Given the description of an element on the screen output the (x, y) to click on. 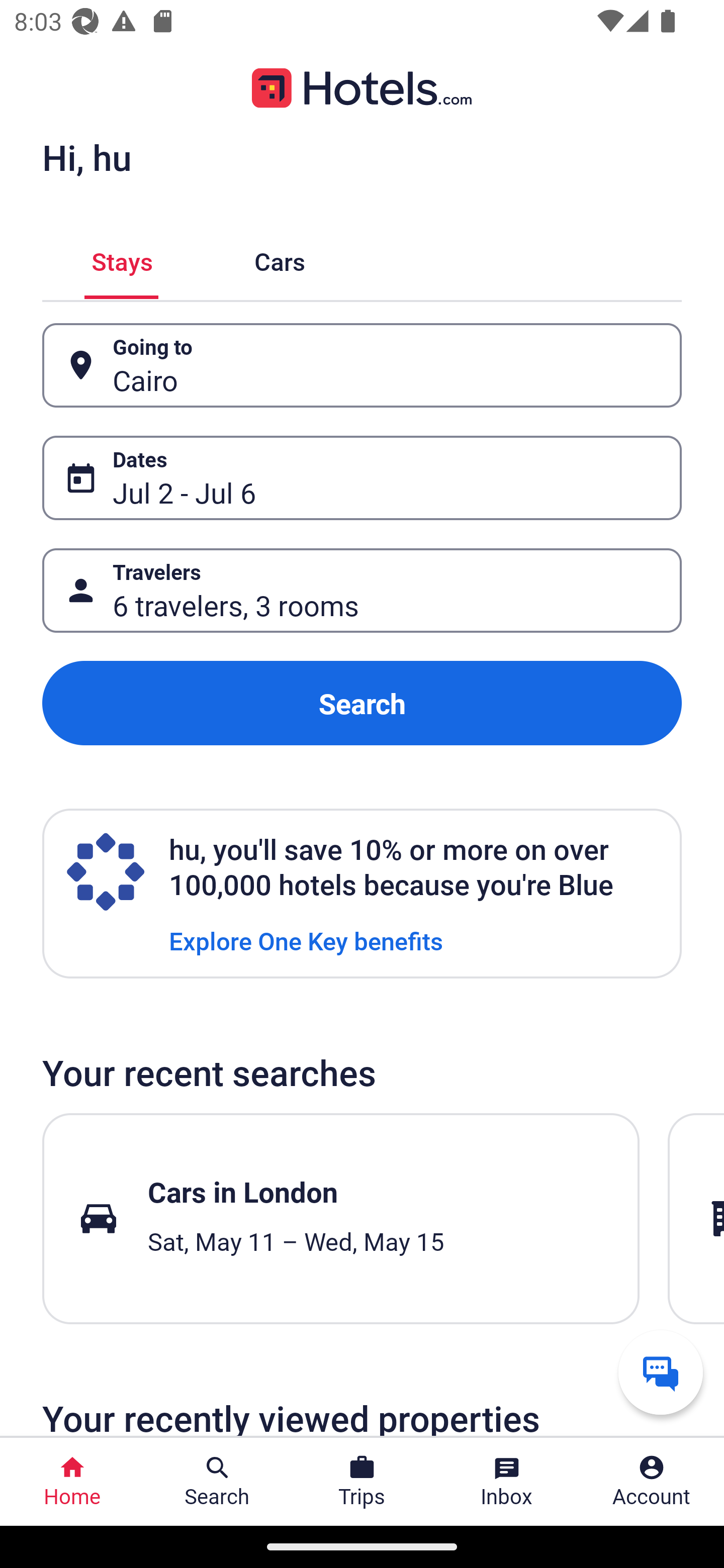
Hi, hu (86, 156)
Cars (279, 259)
Going to Button Cairo (361, 365)
Dates Button Jul 2 - Jul 6 (361, 477)
Travelers Button 6 travelers, 3 rooms (361, 590)
Search (361, 702)
Get help from a virtual agent (660, 1371)
Search Search Button (216, 1481)
Trips Trips Button (361, 1481)
Inbox Inbox Button (506, 1481)
Account Profile. Button (651, 1481)
